Given the description of an element on the screen output the (x, y) to click on. 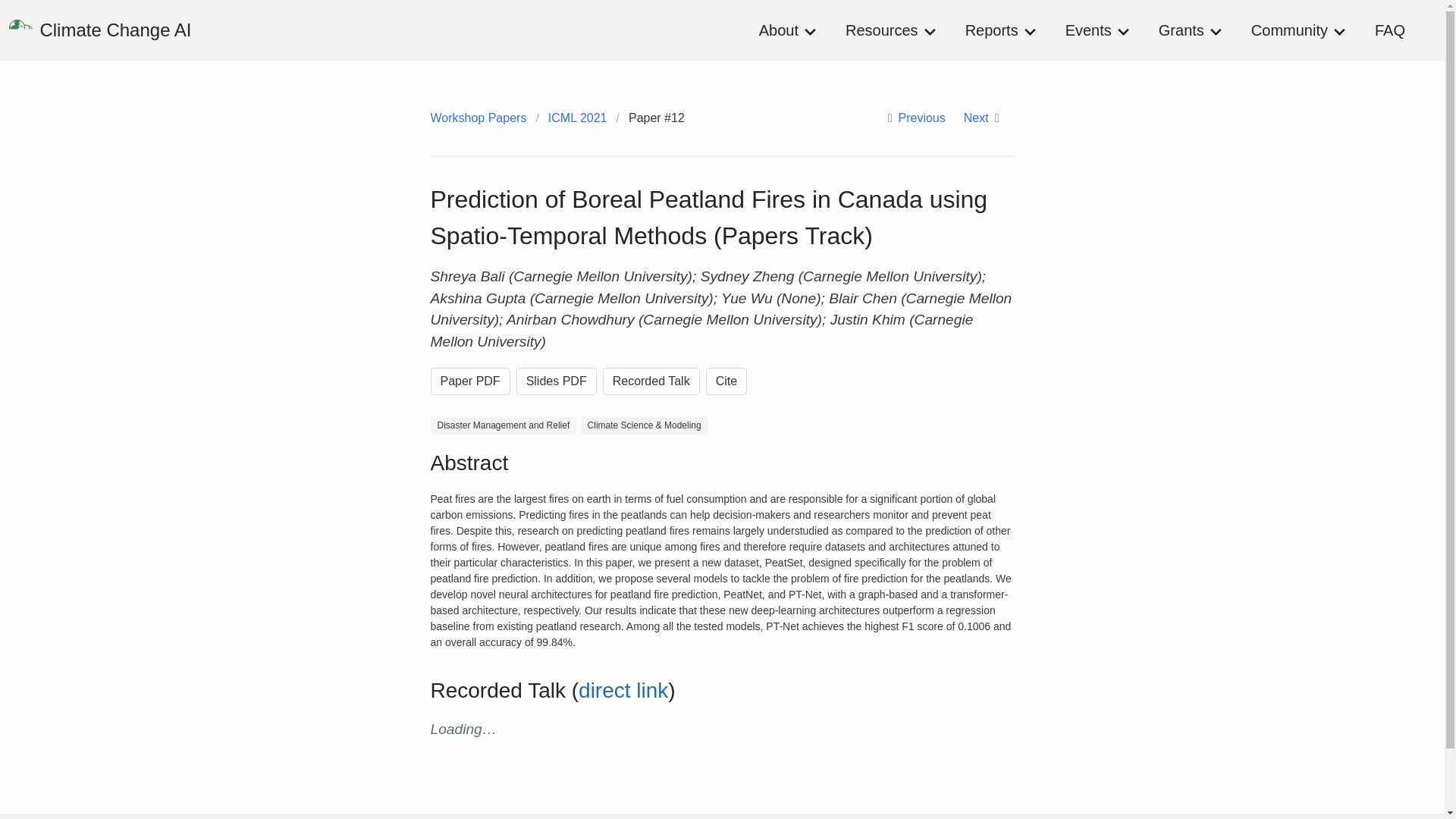
Reports (1006, 30)
ICML 2021 (576, 117)
Climate Change AI (100, 30)
Community (1303, 30)
Grants (1195, 30)
Events (1103, 30)
About (792, 30)
Resources (895, 30)
Workshop Papers (482, 117)
